Given the description of an element on the screen output the (x, y) to click on. 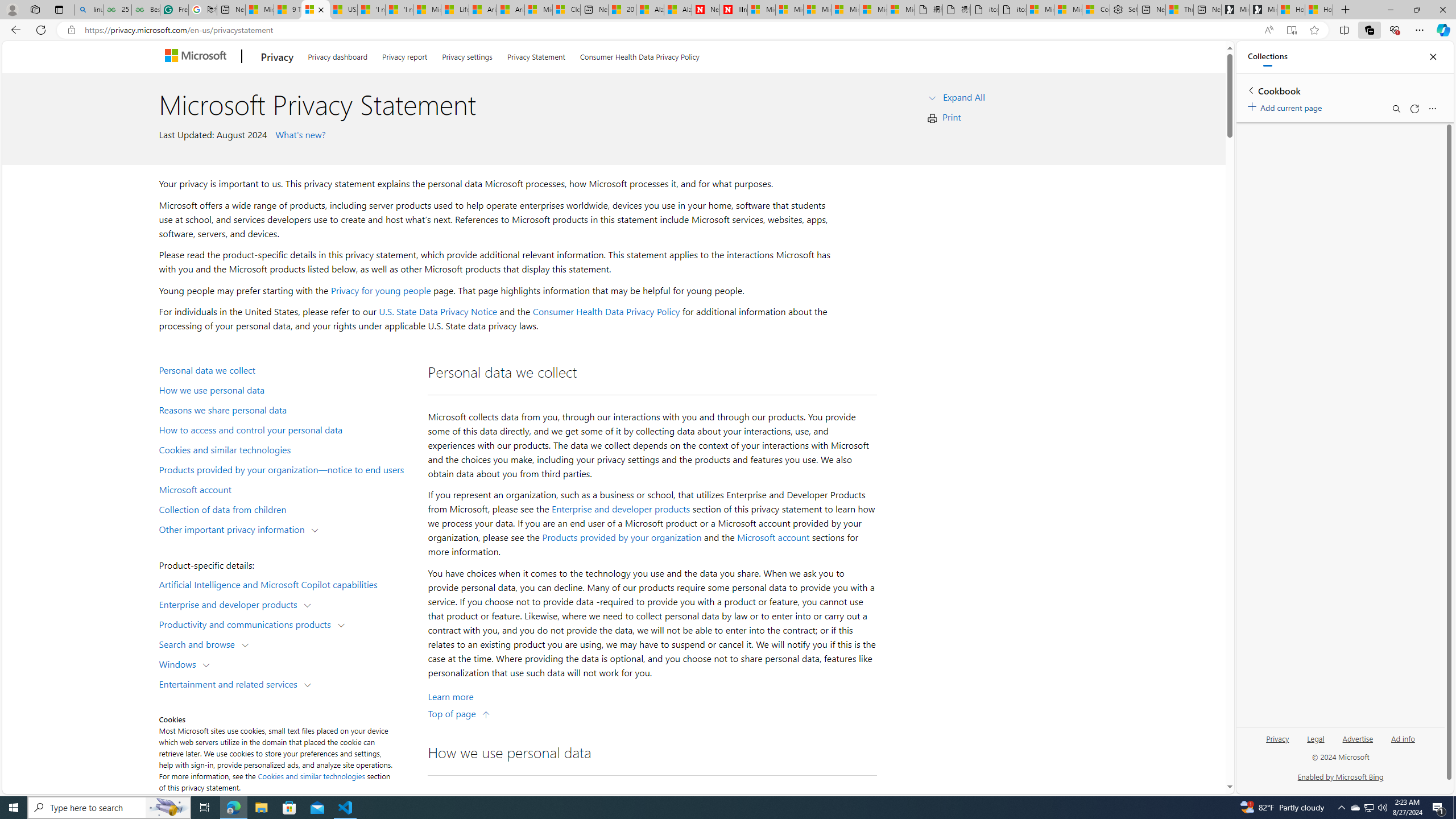
linux basic - Search (88, 9)
Privacy report (404, 54)
Privacy for young people (380, 290)
Add current page (1286, 105)
Back to list of collections (1250, 90)
How to access and control your personal data (287, 428)
